Given the description of an element on the screen output the (x, y) to click on. 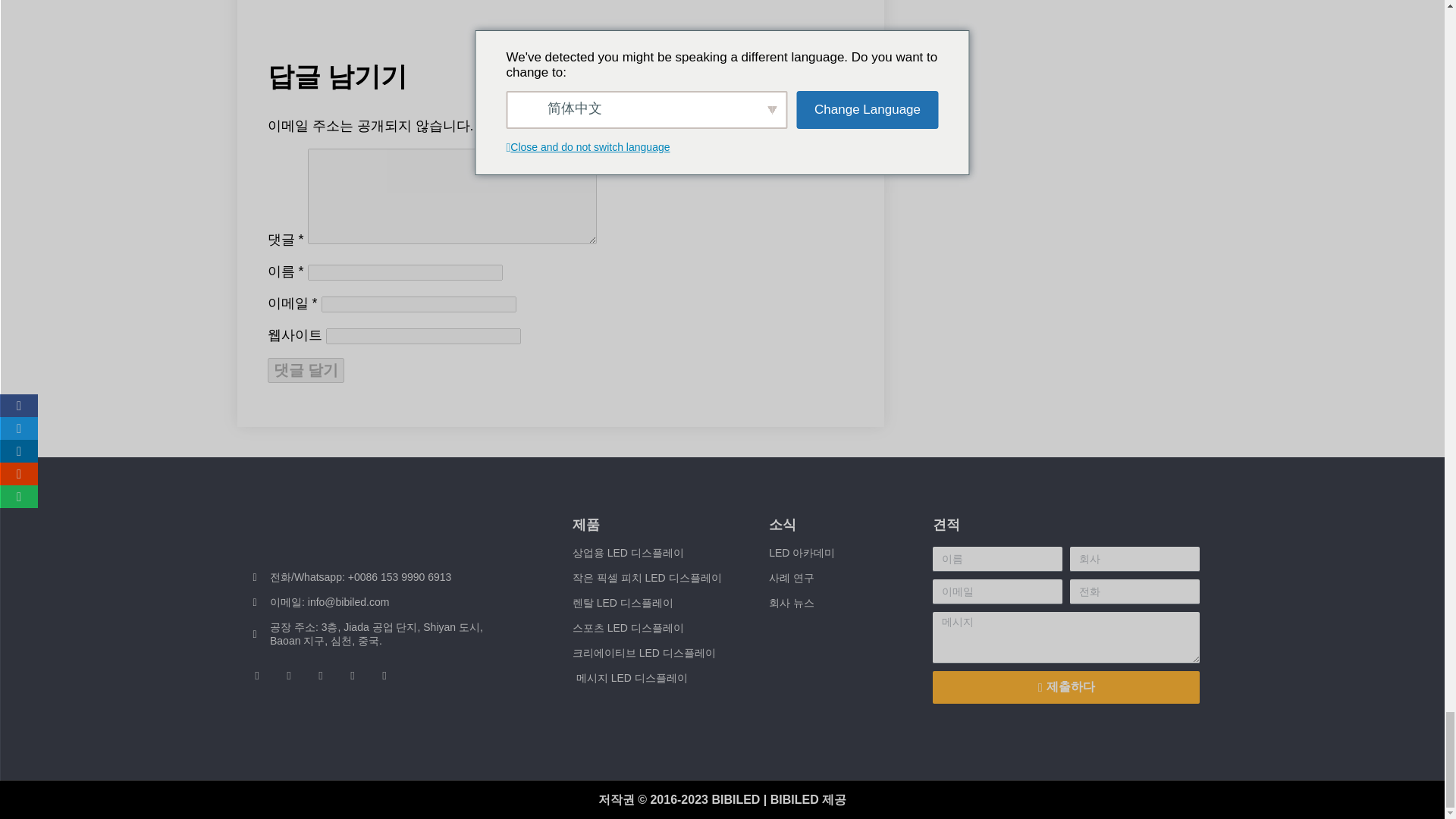
English (257, 710)
